Given the description of an element on the screen output the (x, y) to click on. 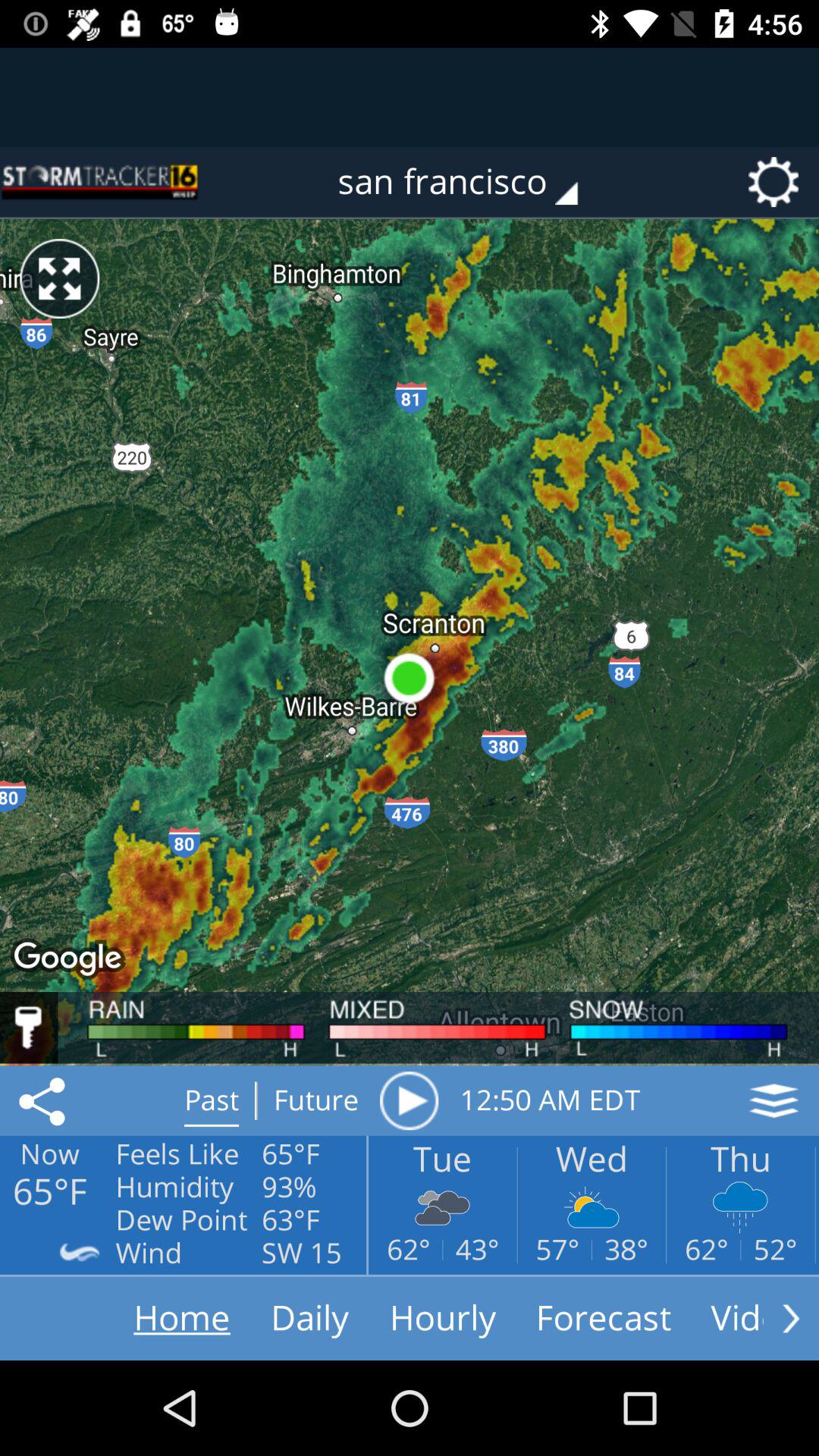
enter login to unlock (29, 1027)
